Given the description of an element on the screen output the (x, y) to click on. 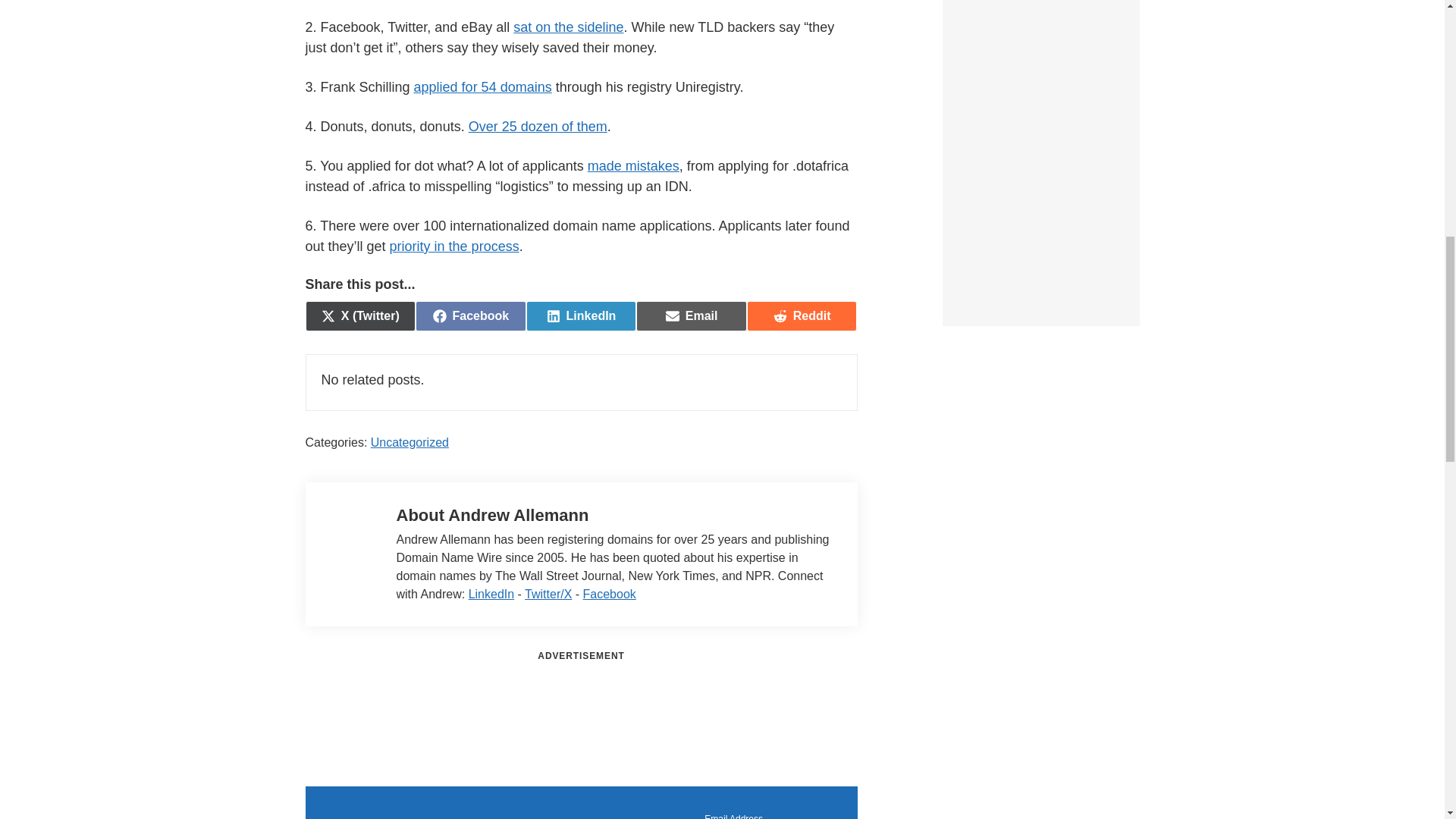
made mistakes (633, 165)
Over 25 dozen of them (537, 126)
sat on the sideline (568, 27)
applied for 54 domains (482, 87)
